Given the description of an element on the screen output the (x, y) to click on. 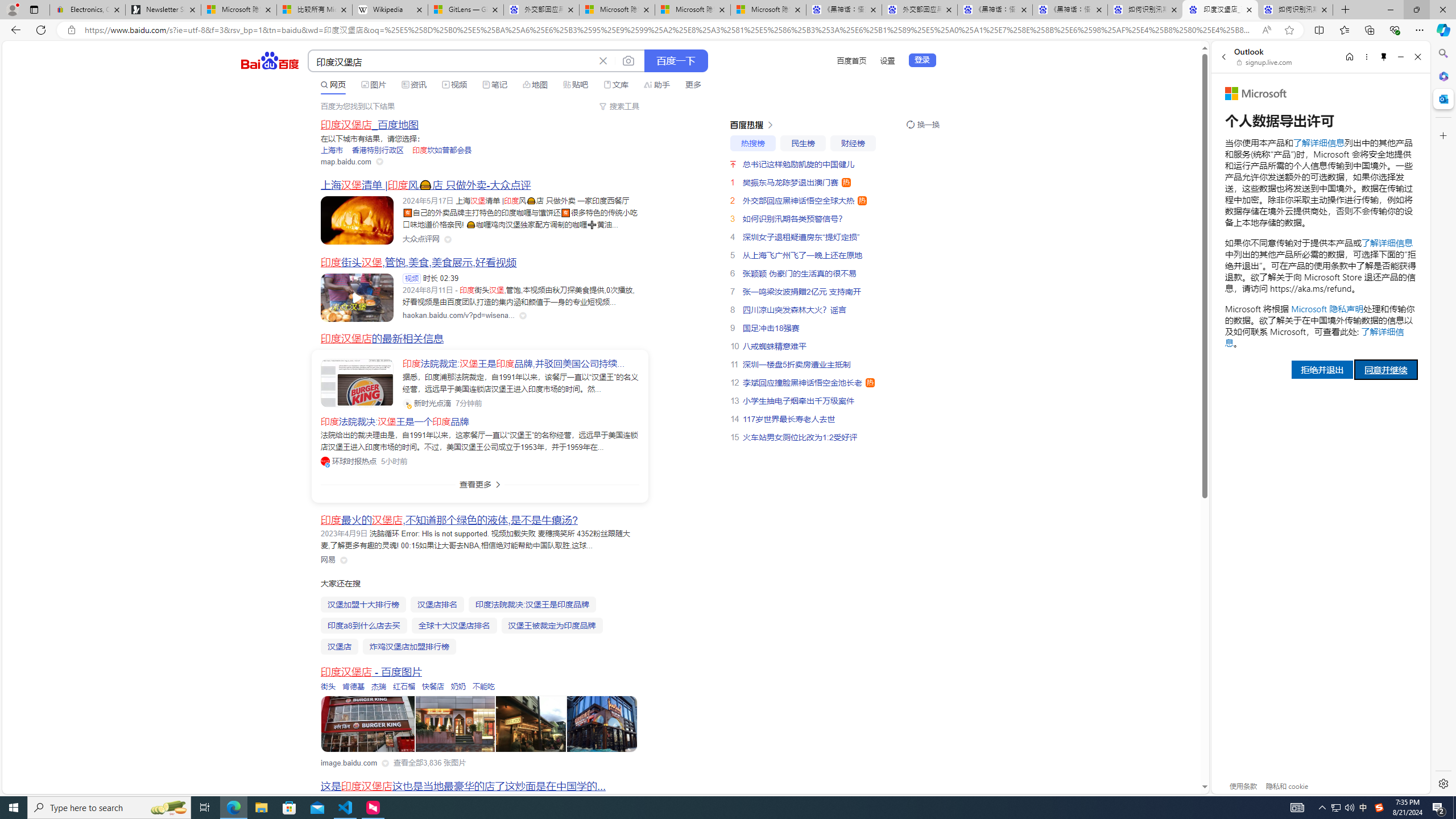
Class: c-img c-img-radius-large (356, 382)
